Given the description of an element on the screen output the (x, y) to click on. 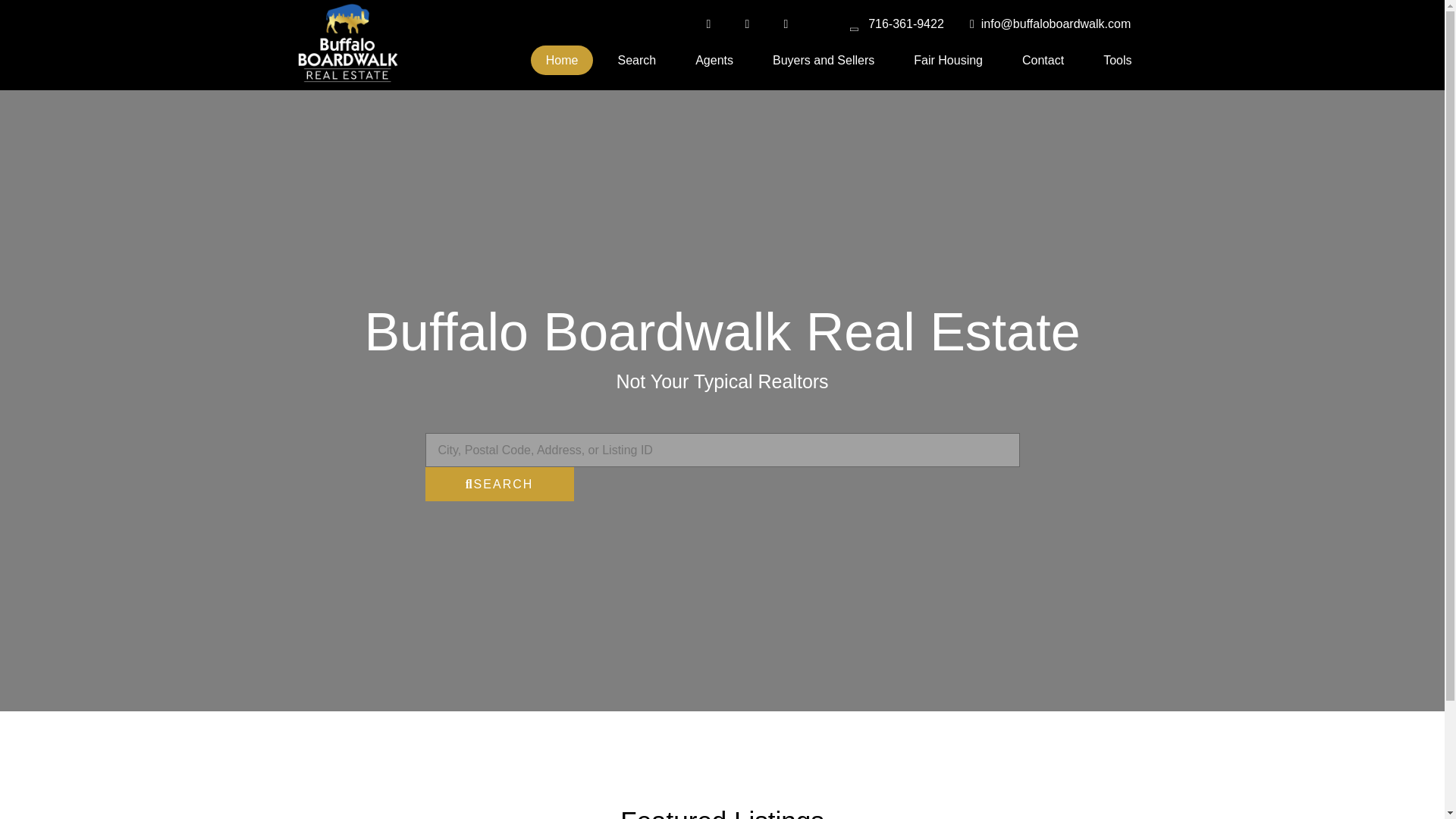
Contact (1042, 60)
Tools (1117, 60)
Search (636, 60)
Buyers and Sellers (823, 60)
Agents (713, 60)
Fair Housing (947, 60)
Home (562, 60)
716-361-9422 (894, 24)
